Given the description of an element on the screen output the (x, y) to click on. 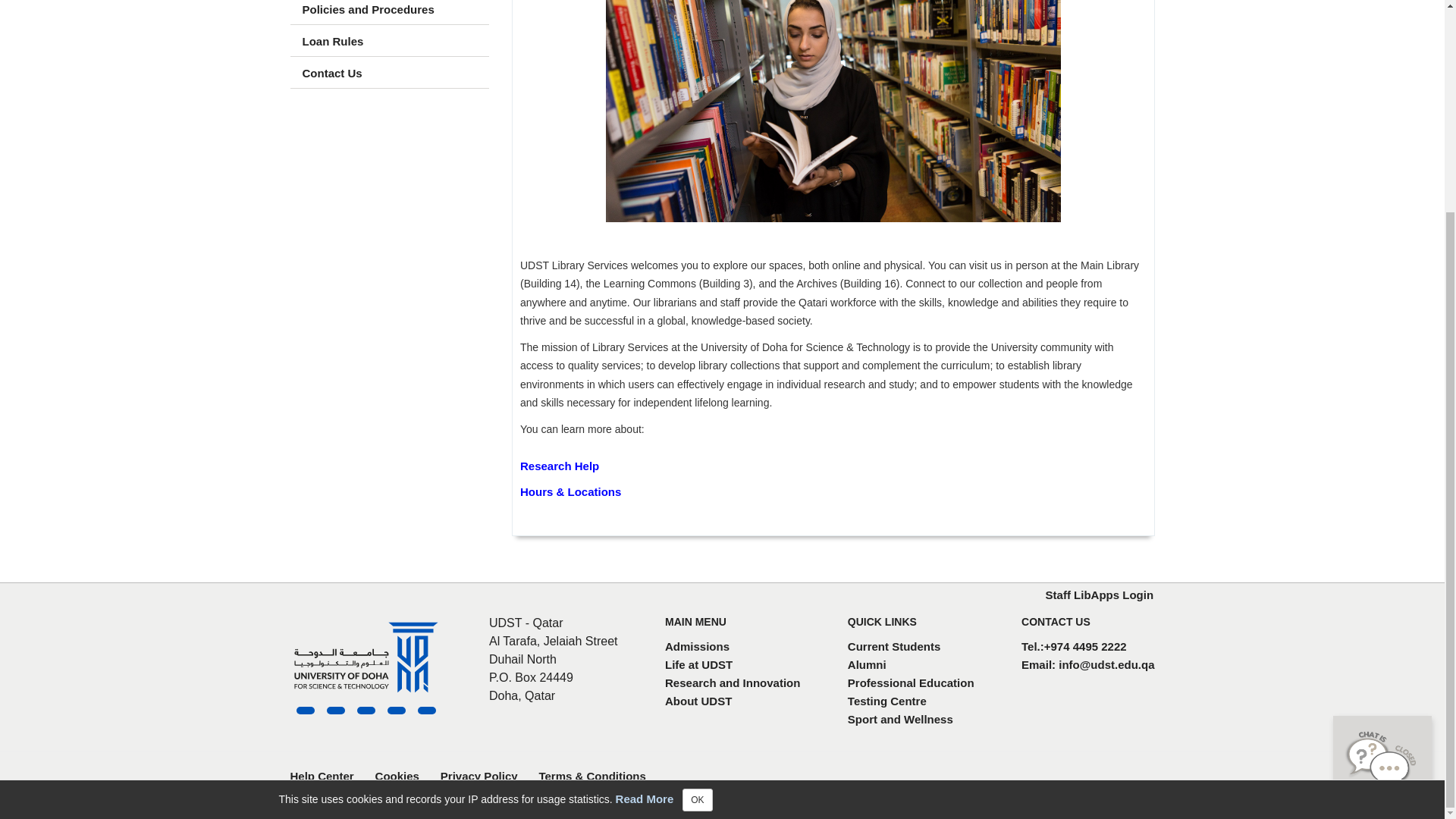
Read More (644, 521)
Chat now offline - Click for open hours (1382, 483)
OK (696, 522)
